Given the description of an element on the screen output the (x, y) to click on. 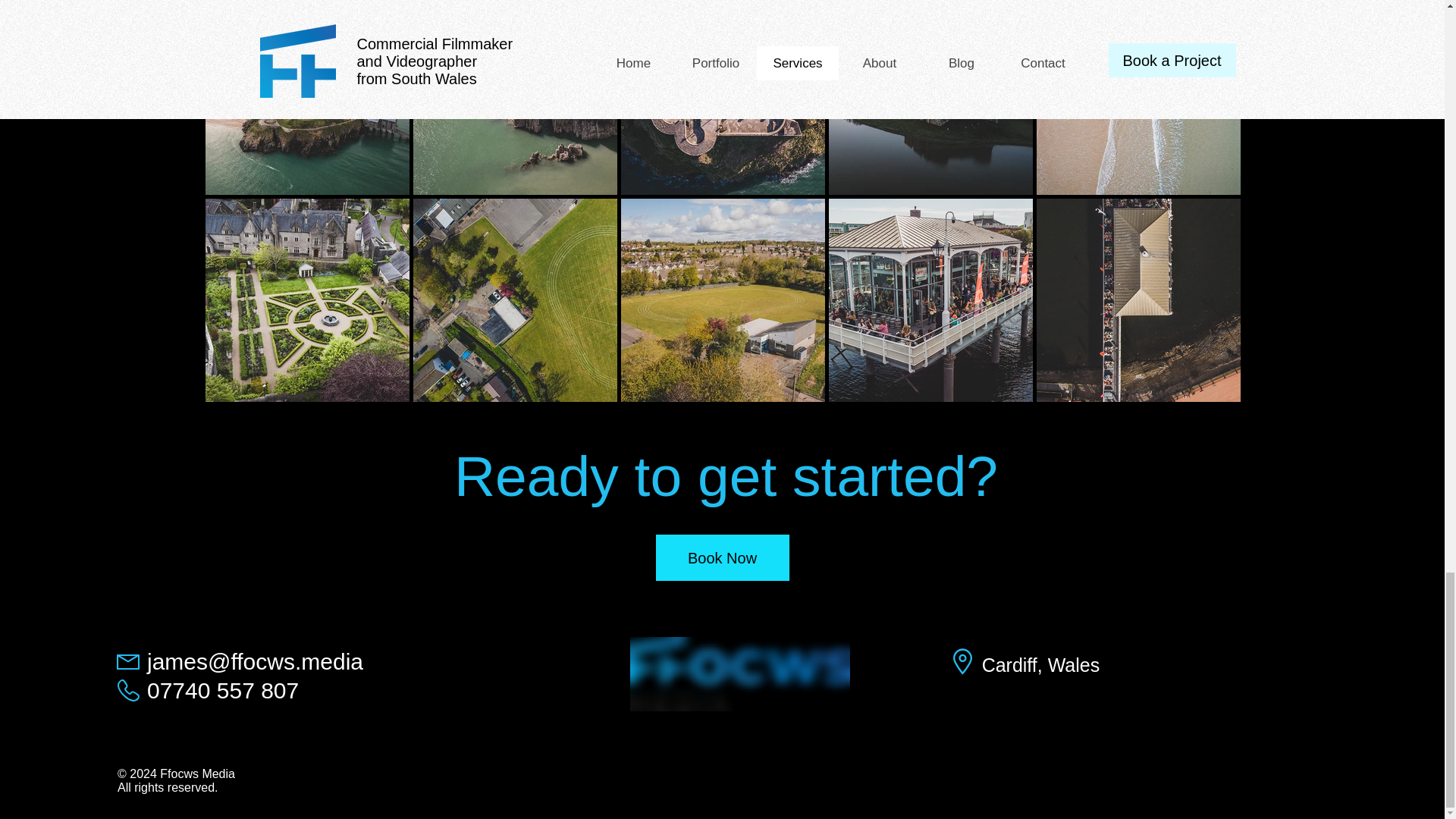
07740 557 807 (222, 690)
Book Now (722, 557)
